Given the description of an element on the screen output the (x, y) to click on. 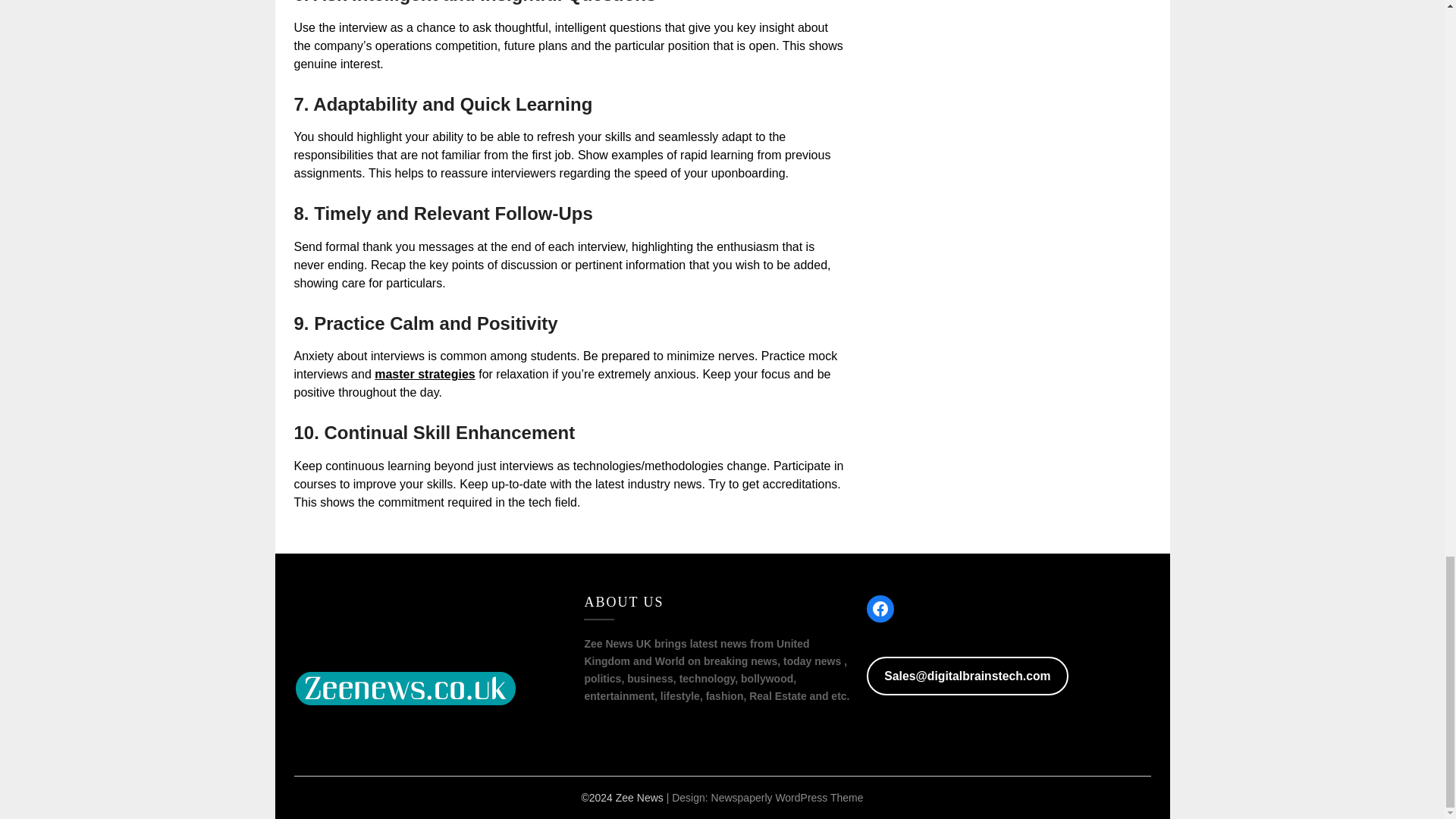
Facebook (879, 608)
Newspaperly WordPress Theme (787, 797)
master strategies (425, 373)
